Given the description of an element on the screen output the (x, y) to click on. 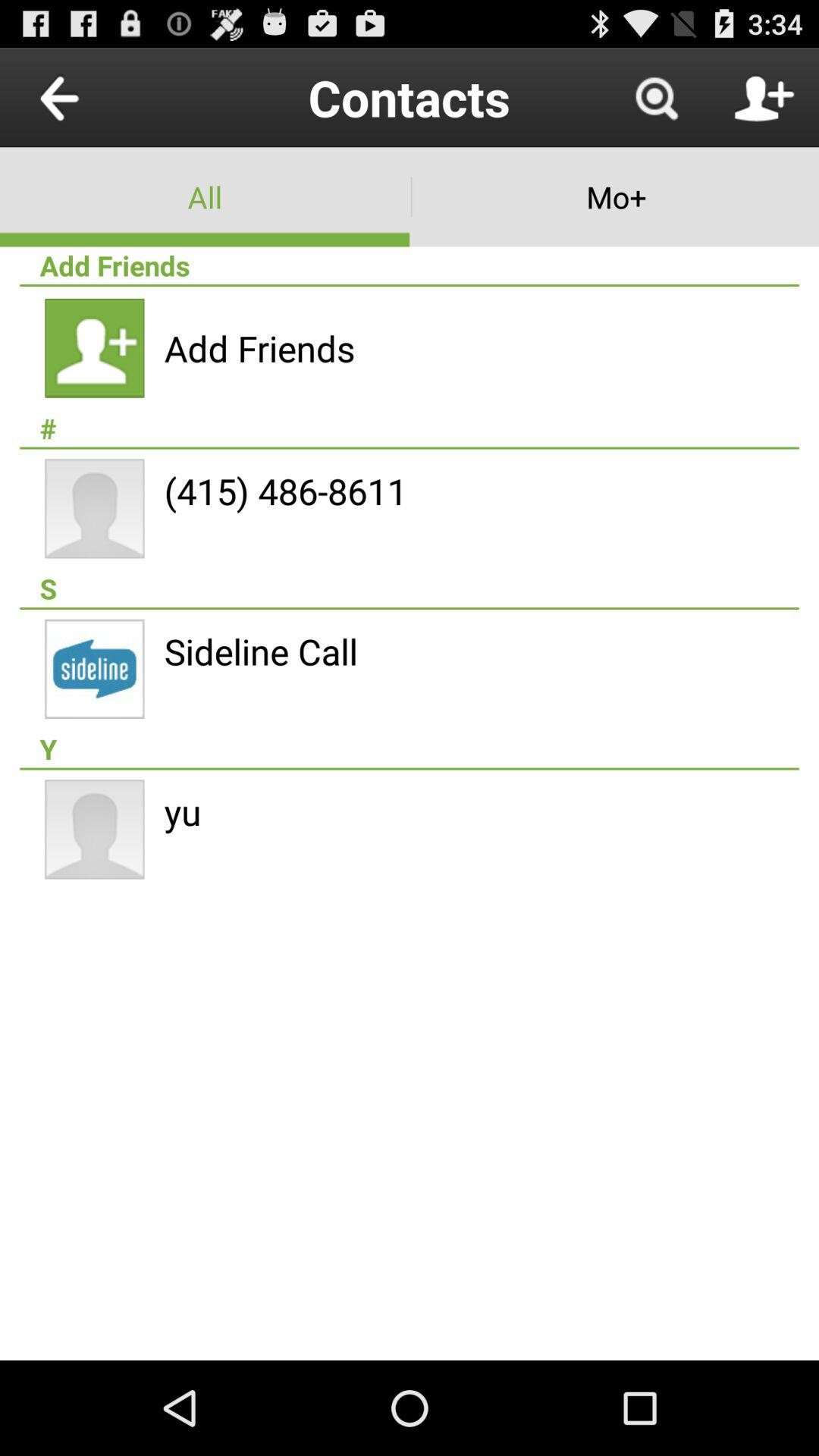
choose mo+ app (614, 196)
